Given the description of an element on the screen output the (x, y) to click on. 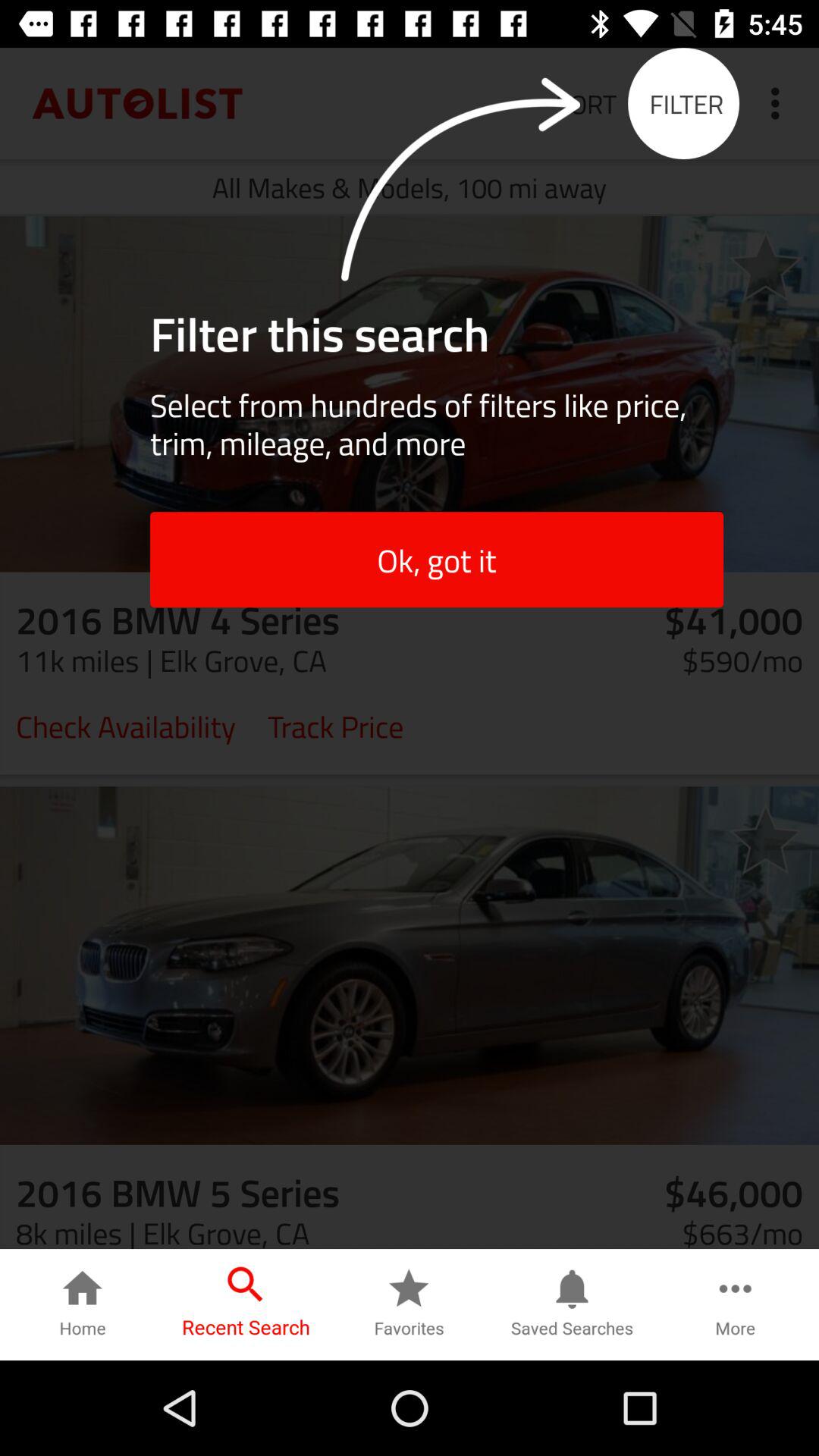
press item on the left (125, 725)
